Given the description of an element on the screen output the (x, y) to click on. 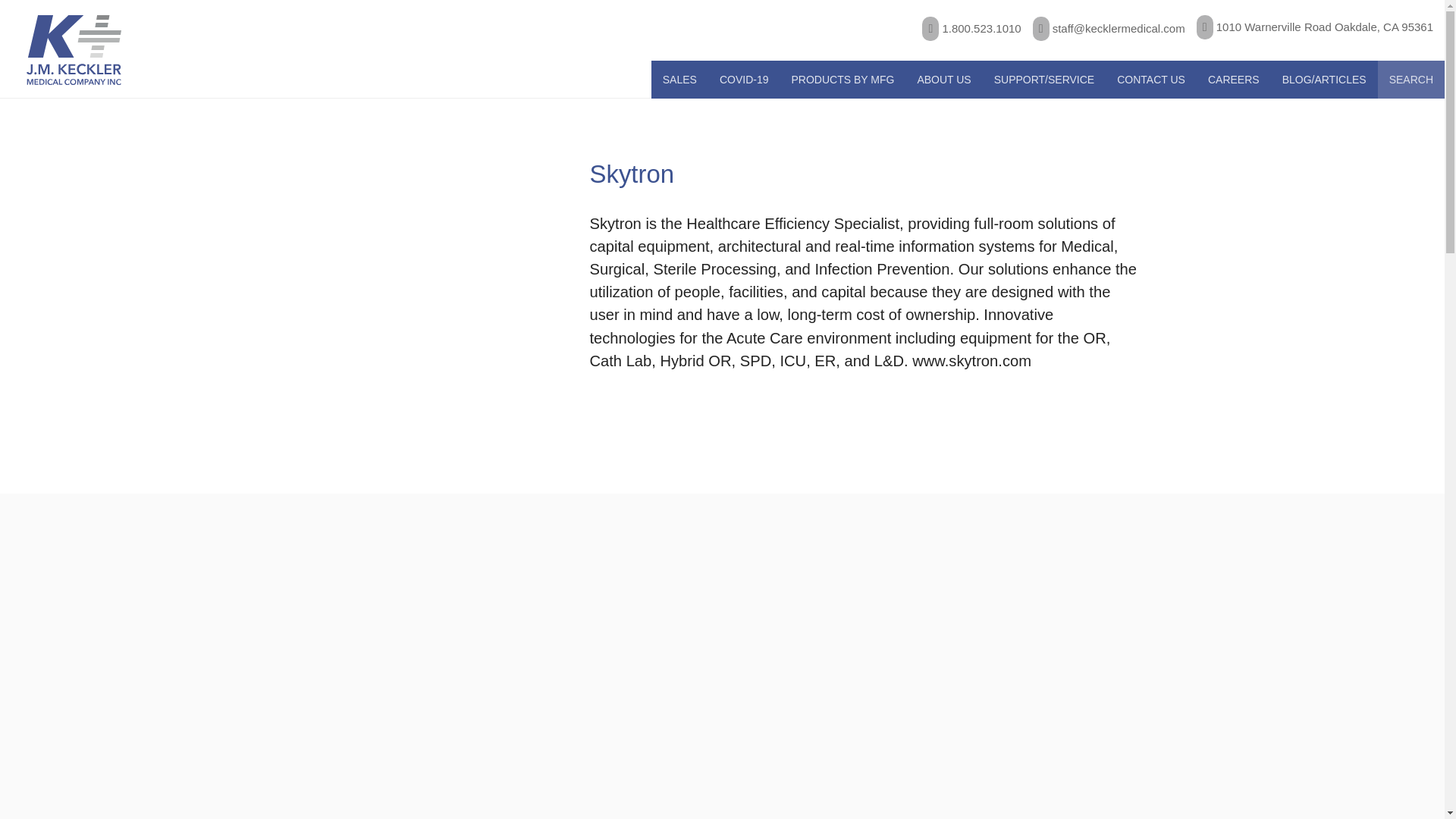
CAREERS (1233, 79)
ABOUT US (944, 79)
CONTACT US (1150, 79)
www.skytron.com (971, 360)
PRODUCTS BY MFG (843, 79)
1010 Warnerville Road Oakdale, CA 95361 (1308, 26)
SALES (679, 79)
1.800.523.1010 (965, 28)
COVID-19 (743, 79)
